Given the description of an element on the screen output the (x, y) to click on. 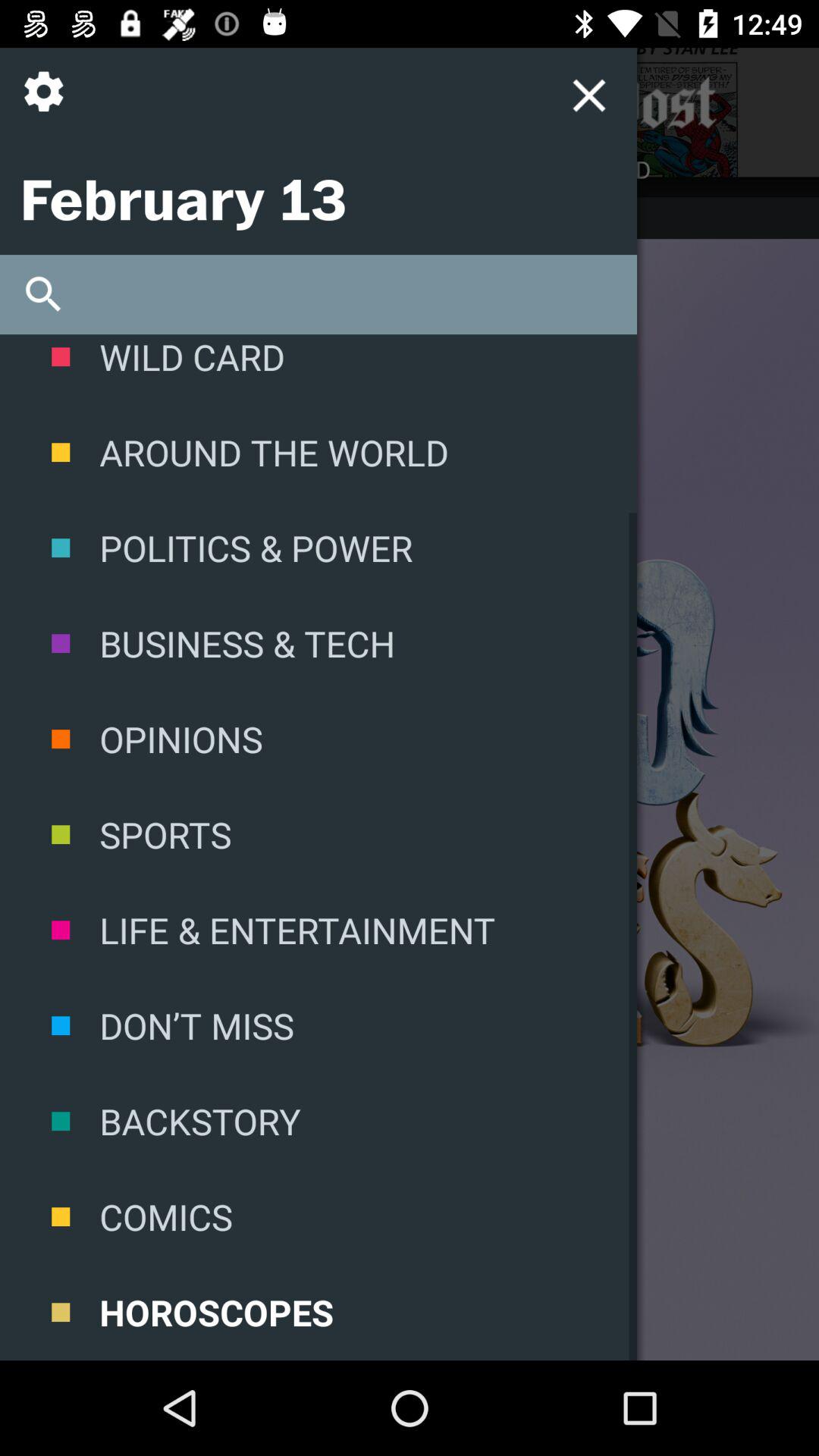
select icon below the around the world icon (318, 547)
